Given the description of an element on the screen output the (x, y) to click on. 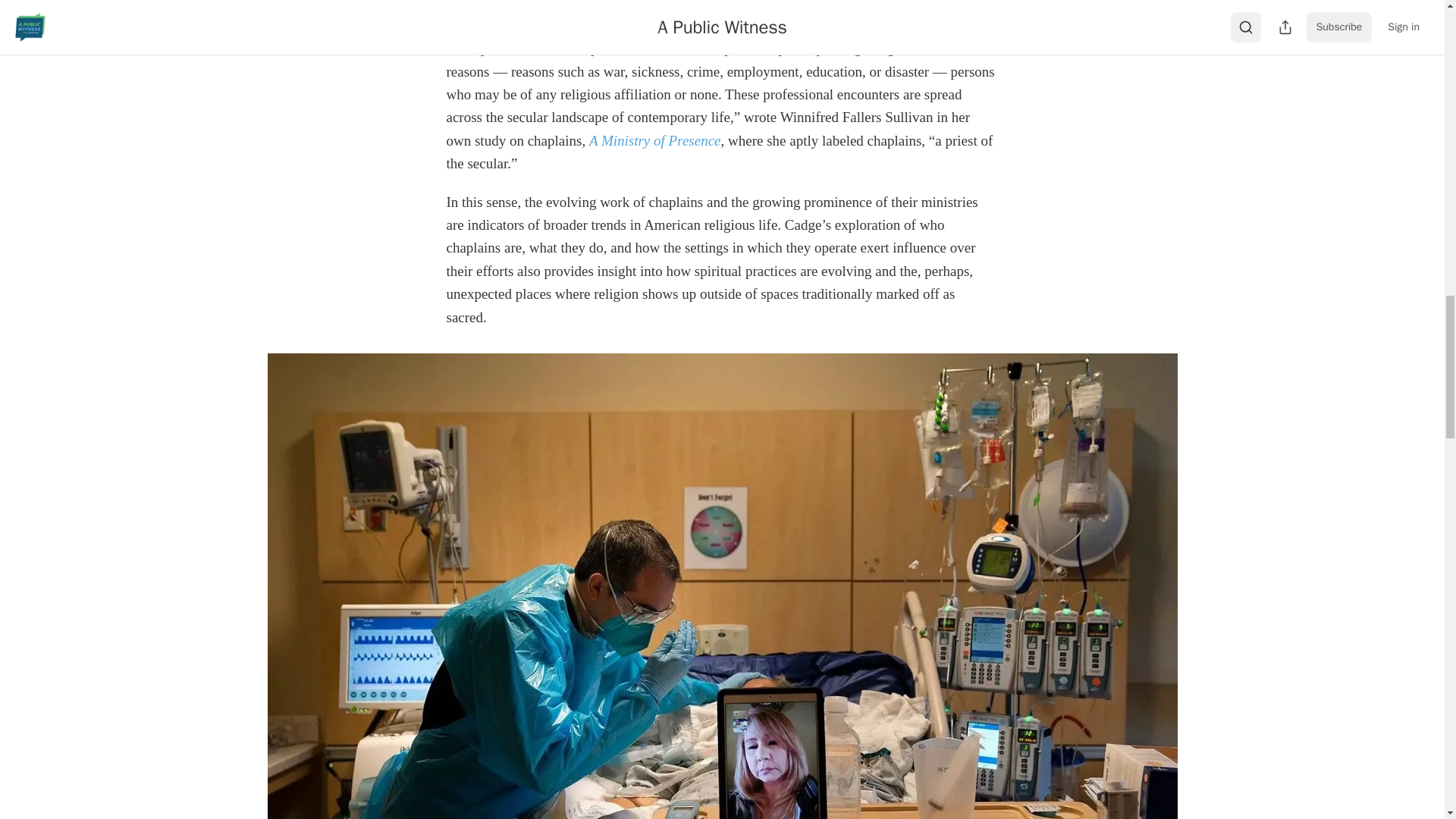
A Ministry of Presence (654, 140)
